Given the description of an element on the screen output the (x, y) to click on. 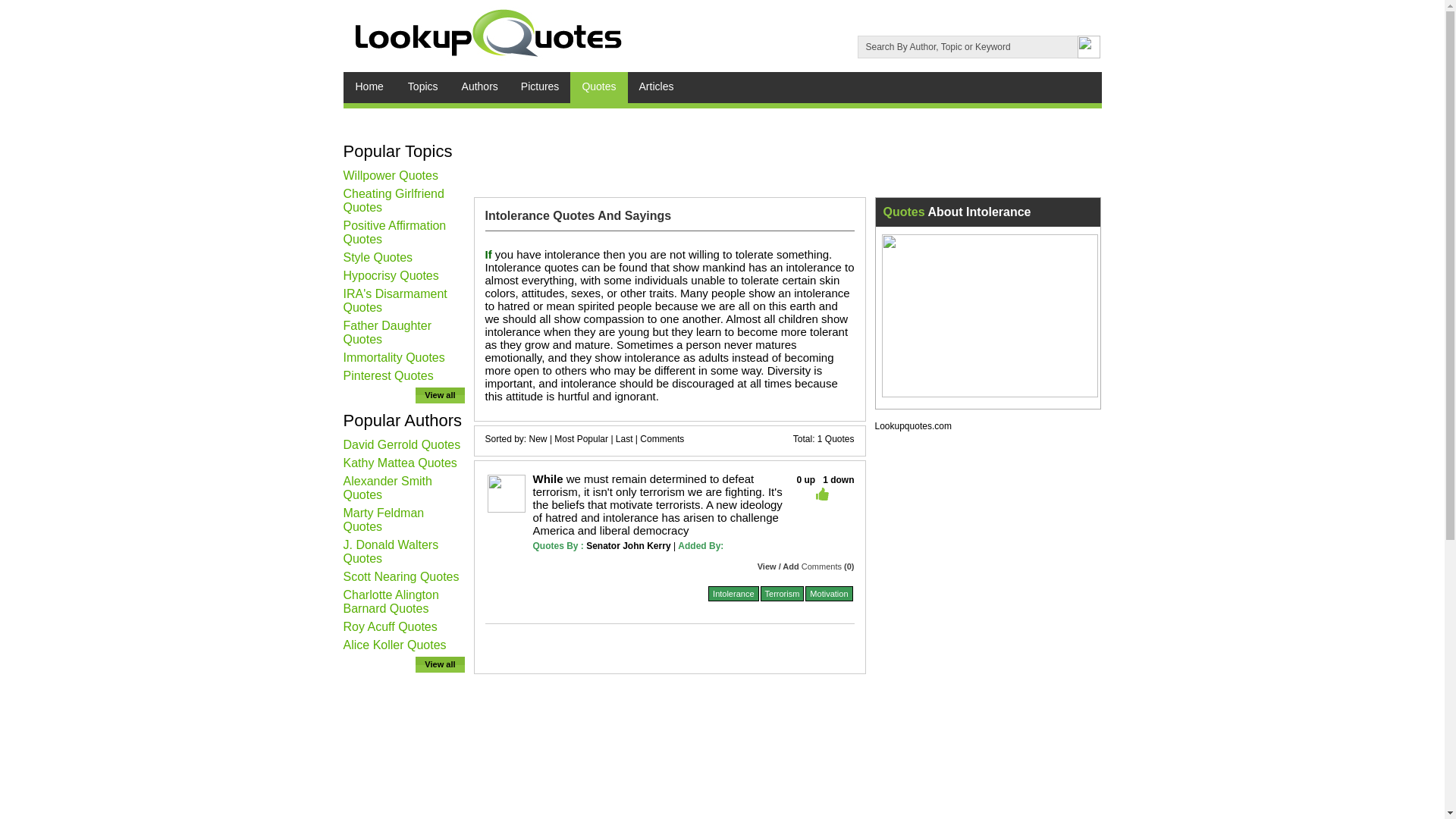
View all (439, 664)
Pinterest Quotes (387, 375)
Roy Acuff Quotes (389, 626)
Father Daughter Quotes (386, 332)
Articles (656, 87)
Immortality Quotes (393, 357)
Alexander Smith Quotes (386, 488)
Authors (479, 87)
Kathy Mattea Quotes (399, 462)
Last (624, 439)
Scott Nearing Quotes (400, 576)
Alice Koller Quotes (393, 644)
Positive Affirmation Quotes (393, 232)
Willpower Quotes (390, 174)
Hypocrisy Quotes (390, 275)
